Given the description of an element on the screen output the (x, y) to click on. 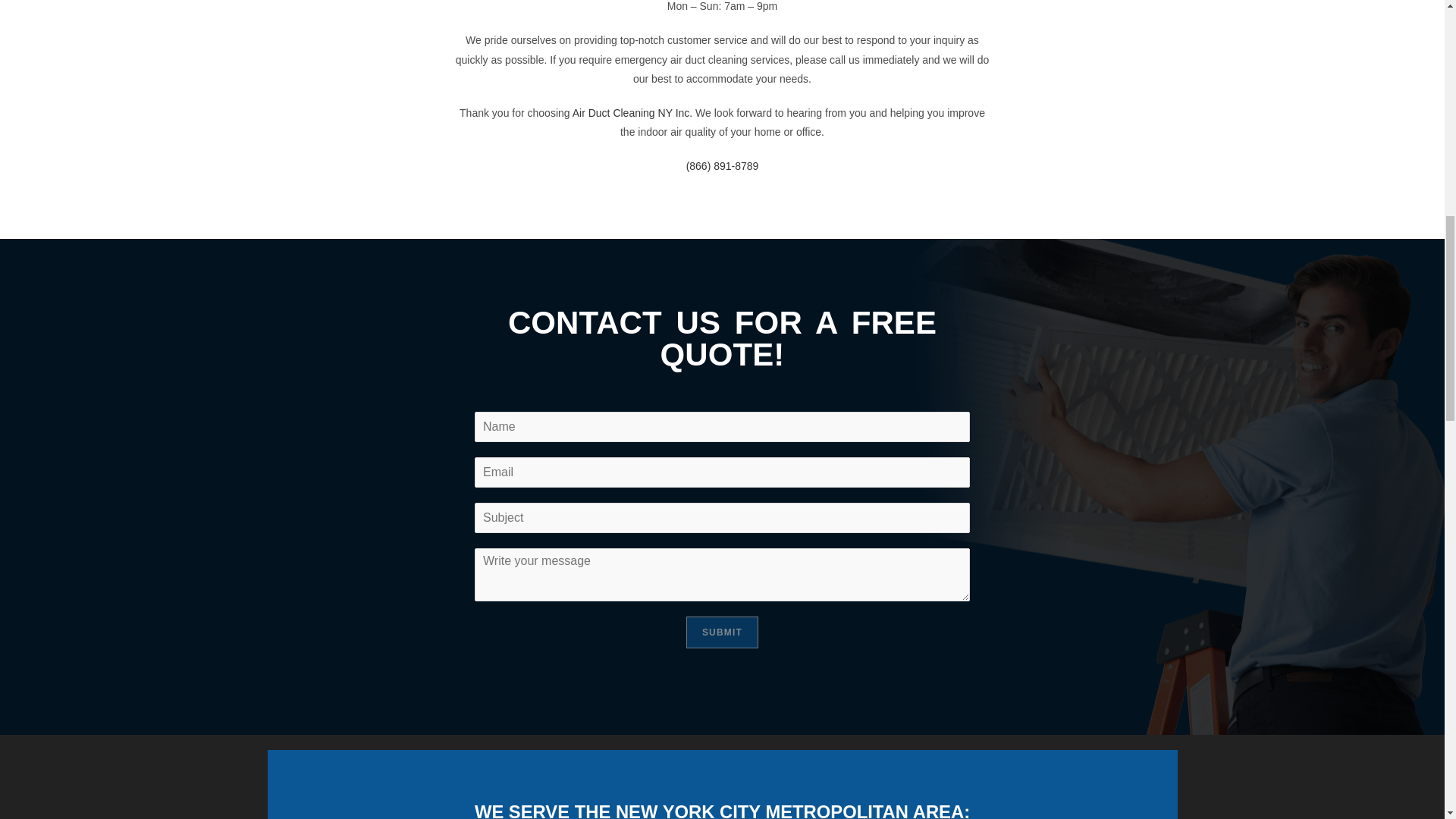
SUBMIT (721, 632)
Air Duct Cleaning NY Inc. (632, 112)
